Given the description of an element on the screen output the (x, y) to click on. 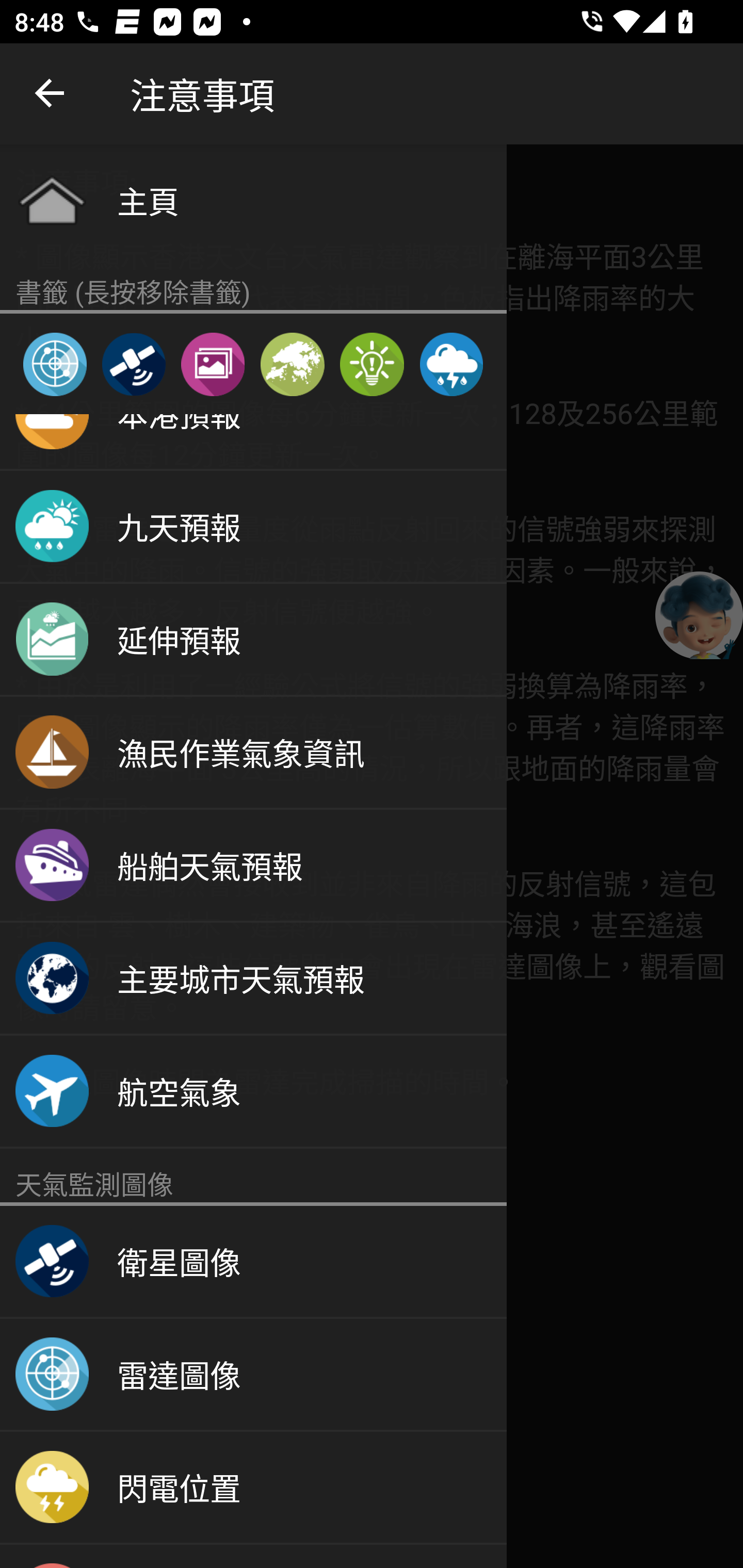
向上瀏覽 (50, 93)
主頁 (253, 199)
雷達圖像 (54, 364)
衛星圖像 (133, 364)
天氣照片 (212, 364)
分區天氣 (292, 364)
天氣提示 (371, 364)
定點降雨及閃電預報 (451, 364)
九天預報 (253, 526)
延伸預報 (253, 639)
漁民作業氣象資訊 (253, 752)
船舶天氣預報 (253, 865)
主要城市天氣預報 (253, 978)
航空氣象 (253, 1091)
衛星圖像 (253, 1261)
雷達圖像 (253, 1374)
閃電位置 (253, 1487)
